Given the description of an element on the screen output the (x, y) to click on. 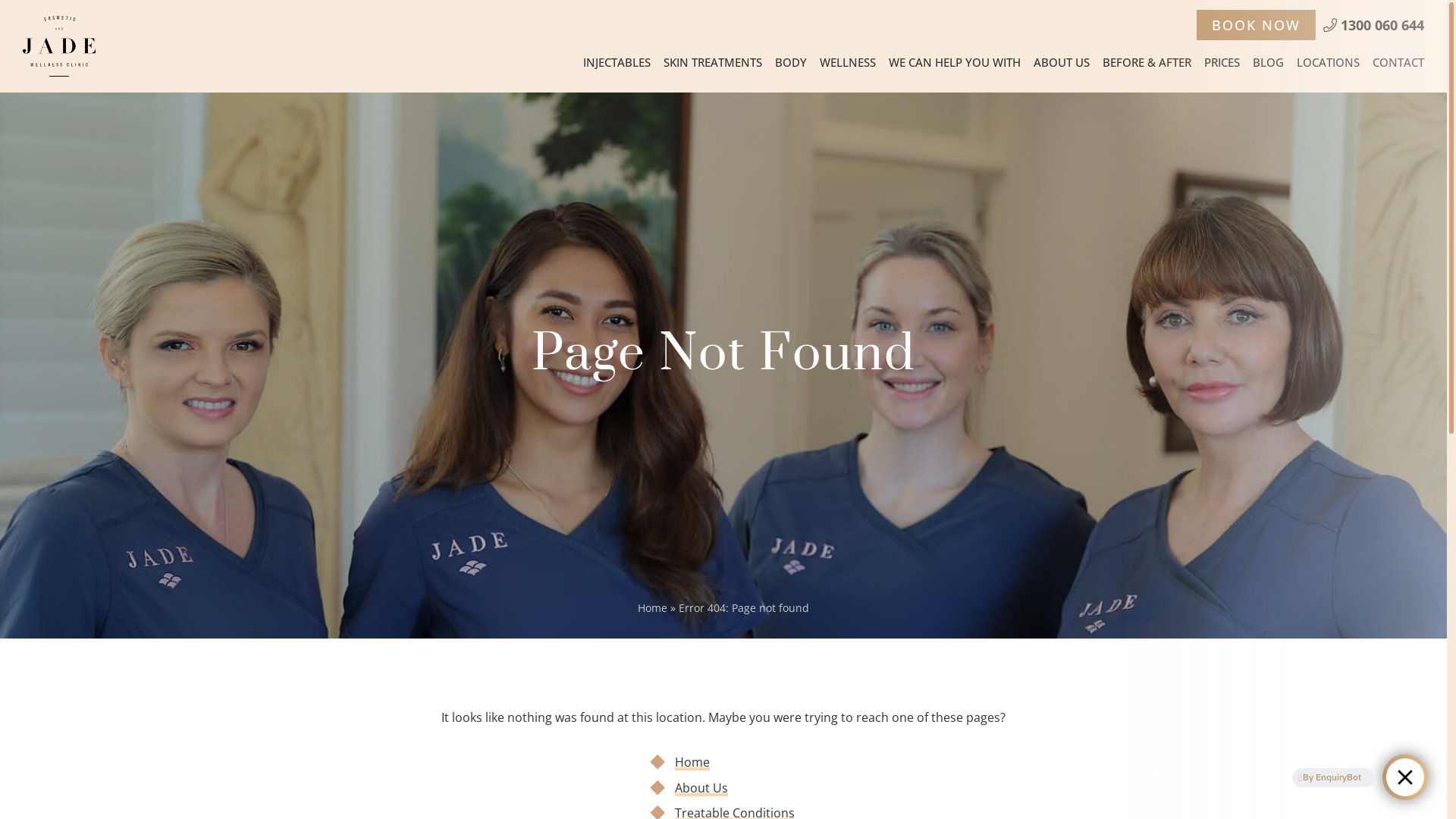
BLOG Element type: text (1267, 62)
LOCATIONS Element type: text (1327, 62)
By EnquiryBot Element type: text (1330, 776)
ABOUT US Element type: text (1061, 62)
1300 060 644 Element type: text (1373, 24)
BOOK NOW Element type: text (1255, 24)
PRICES Element type: text (1221, 62)
SKIN TREATMENTS Element type: text (712, 62)
WE CAN HELP YOU WITH Element type: text (954, 62)
CONTACT Element type: text (1398, 62)
Home Element type: text (652, 607)
INJECTABLES Element type: text (616, 62)
About Us Element type: text (701, 787)
WELLNESS Element type: text (847, 62)
BODY Element type: text (790, 62)
BEFORE & AFTER Element type: text (1146, 62)
Home Element type: text (691, 761)
